Given the description of an element on the screen output the (x, y) to click on. 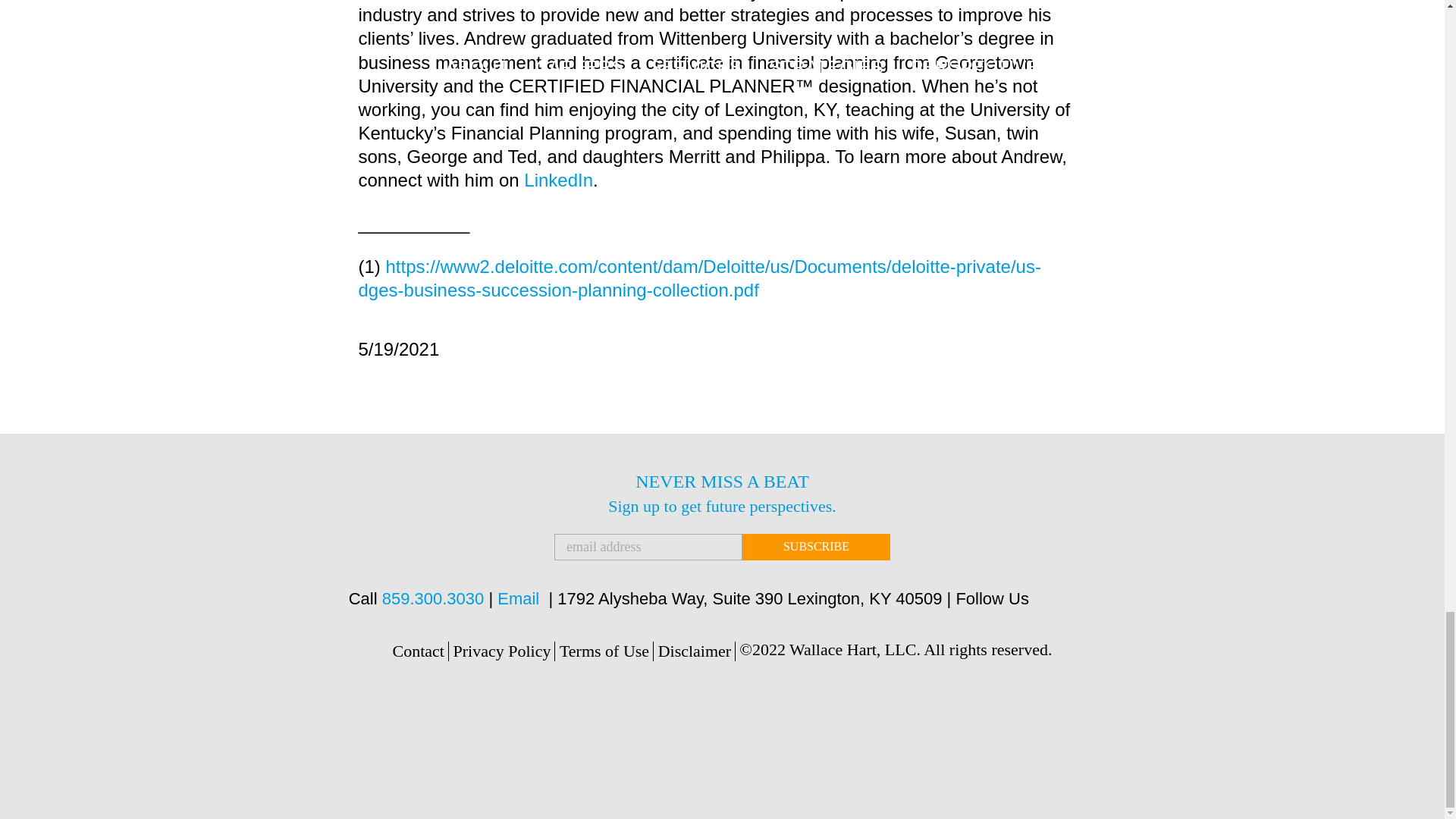
Subscribe (815, 546)
Subscribe (815, 546)
LinkedIn (1051, 600)
LinkedIn (558, 179)
Facebook (1082, 600)
859.300.3030 (432, 598)
